Given the description of an element on the screen output the (x, y) to click on. 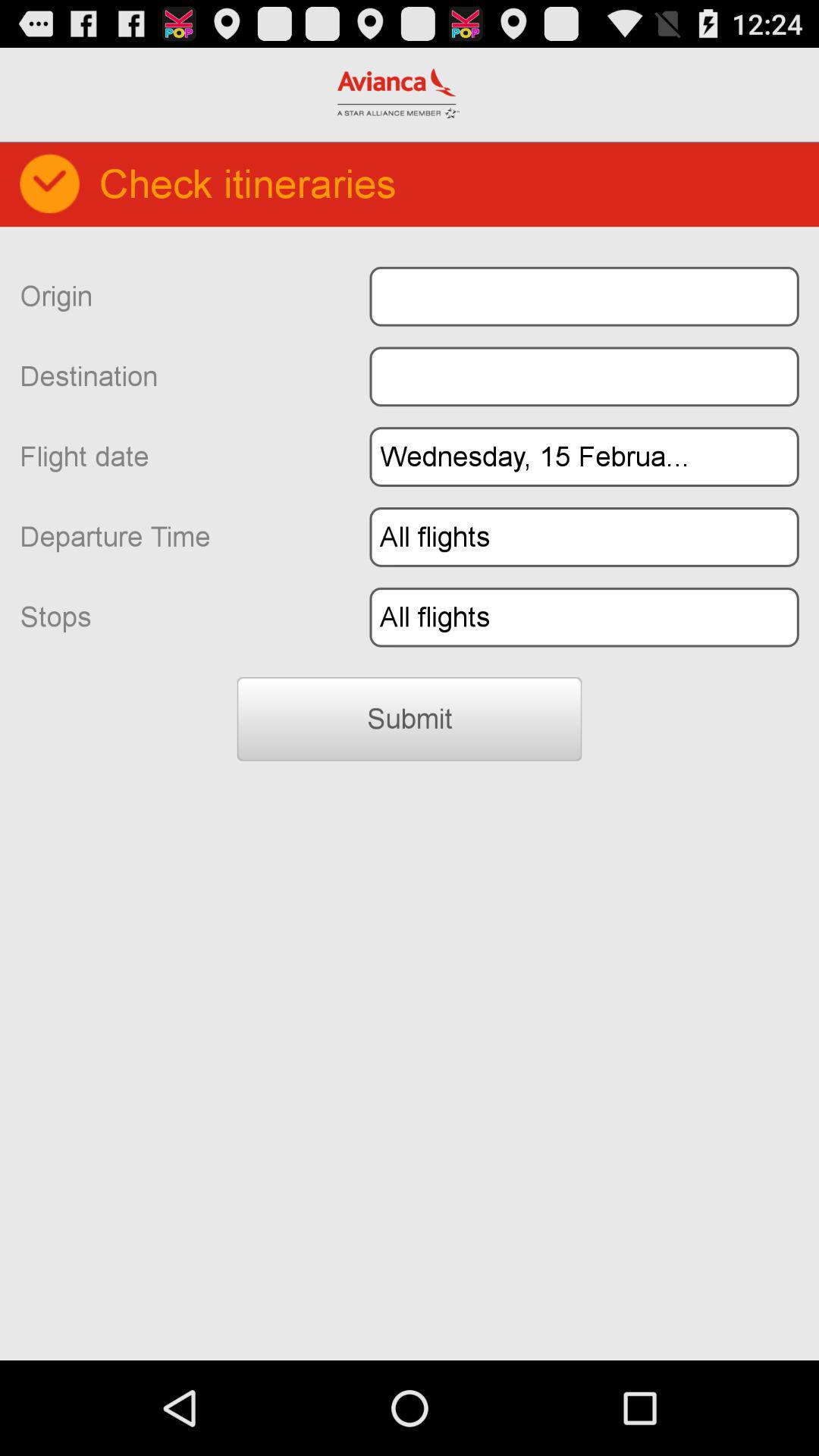
destination field (584, 376)
